Given the description of an element on the screen output the (x, y) to click on. 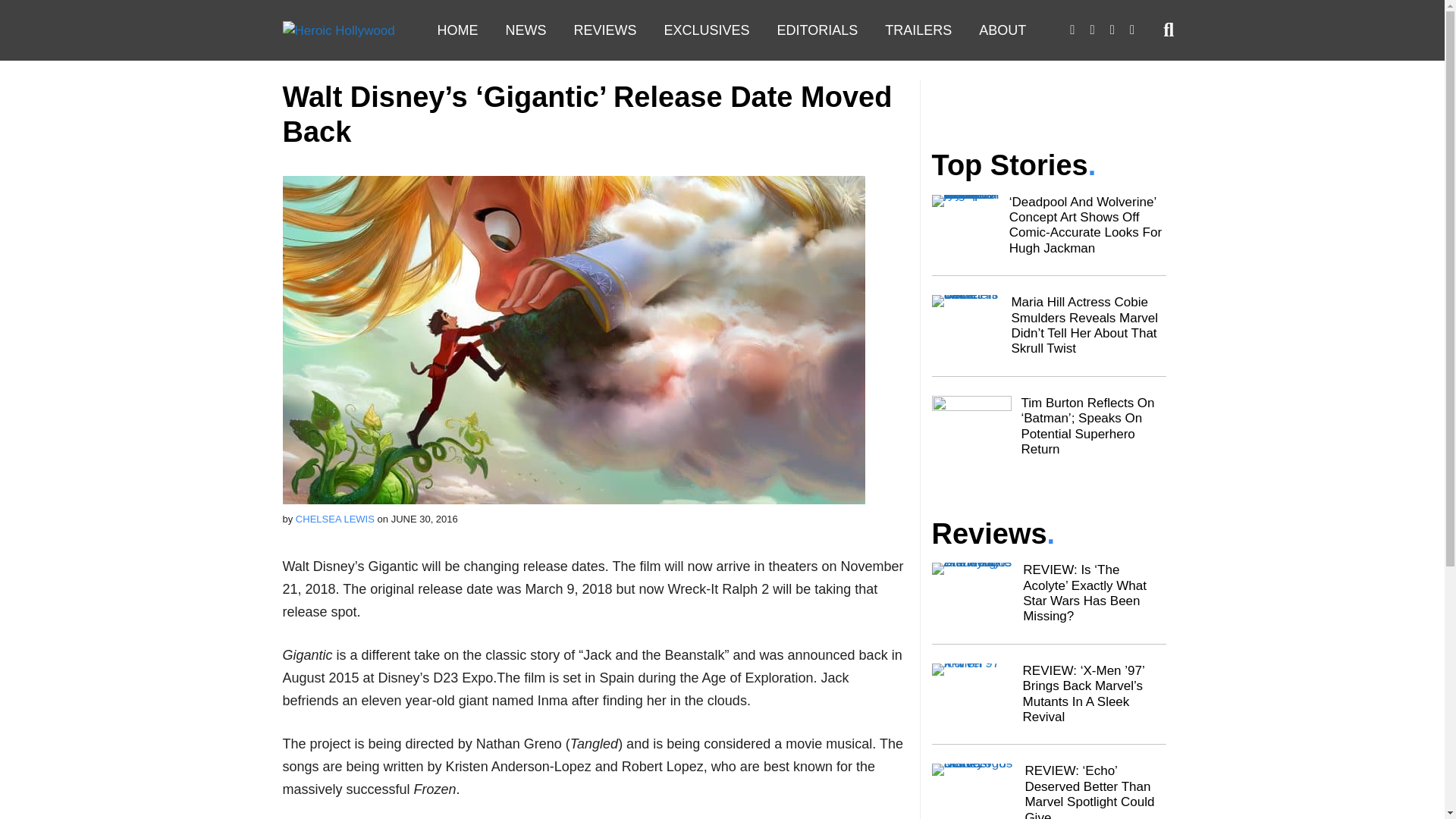
2016-06-30 (424, 518)
REVIEWS (604, 30)
ABOUT (1002, 30)
HOME (457, 30)
EXCLUSIVES (706, 30)
EDITORIALS (817, 30)
TRAILERS (917, 30)
NEWS (525, 30)
